Given the description of an element on the screen output the (x, y) to click on. 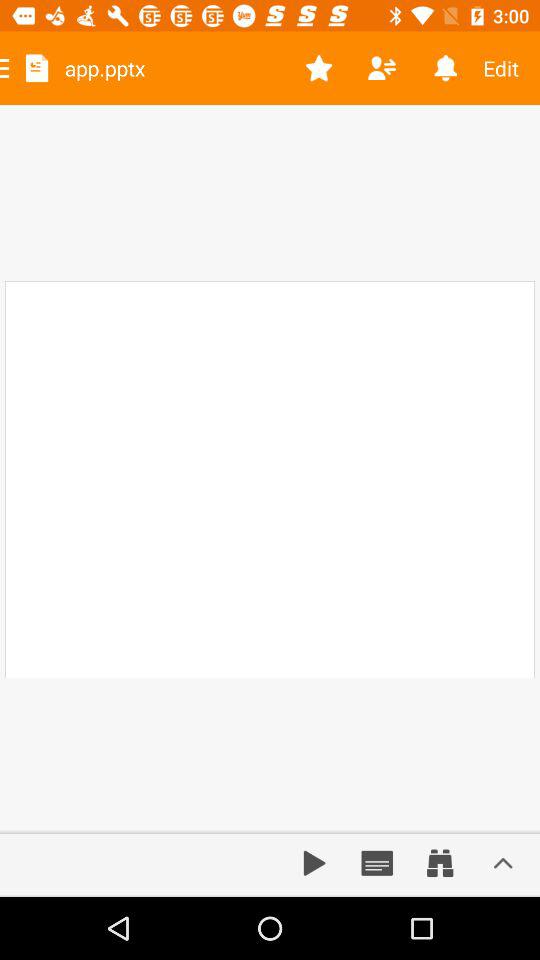
scroll until edit item (508, 68)
